Given the description of an element on the screen output the (x, y) to click on. 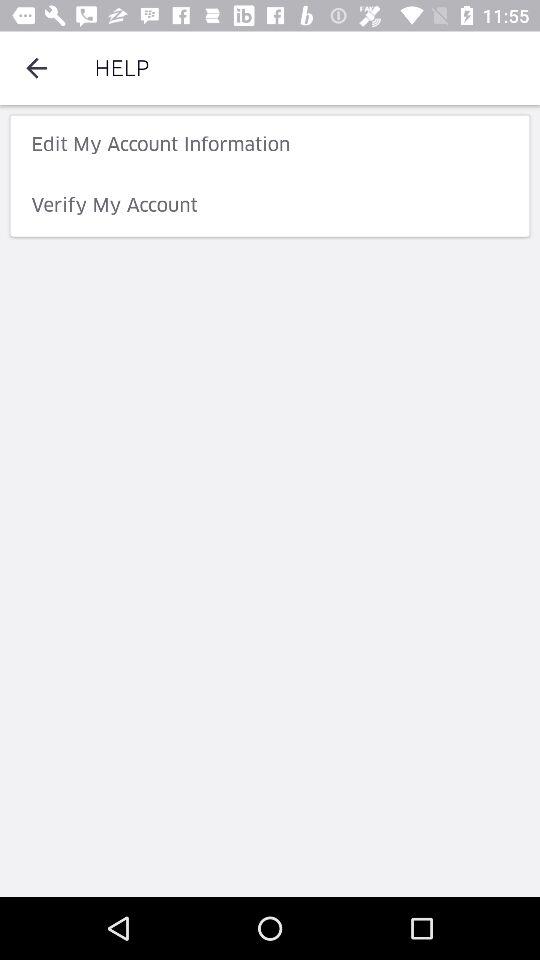
tap the item to the left of help icon (36, 68)
